Given the description of an element on the screen output the (x, y) to click on. 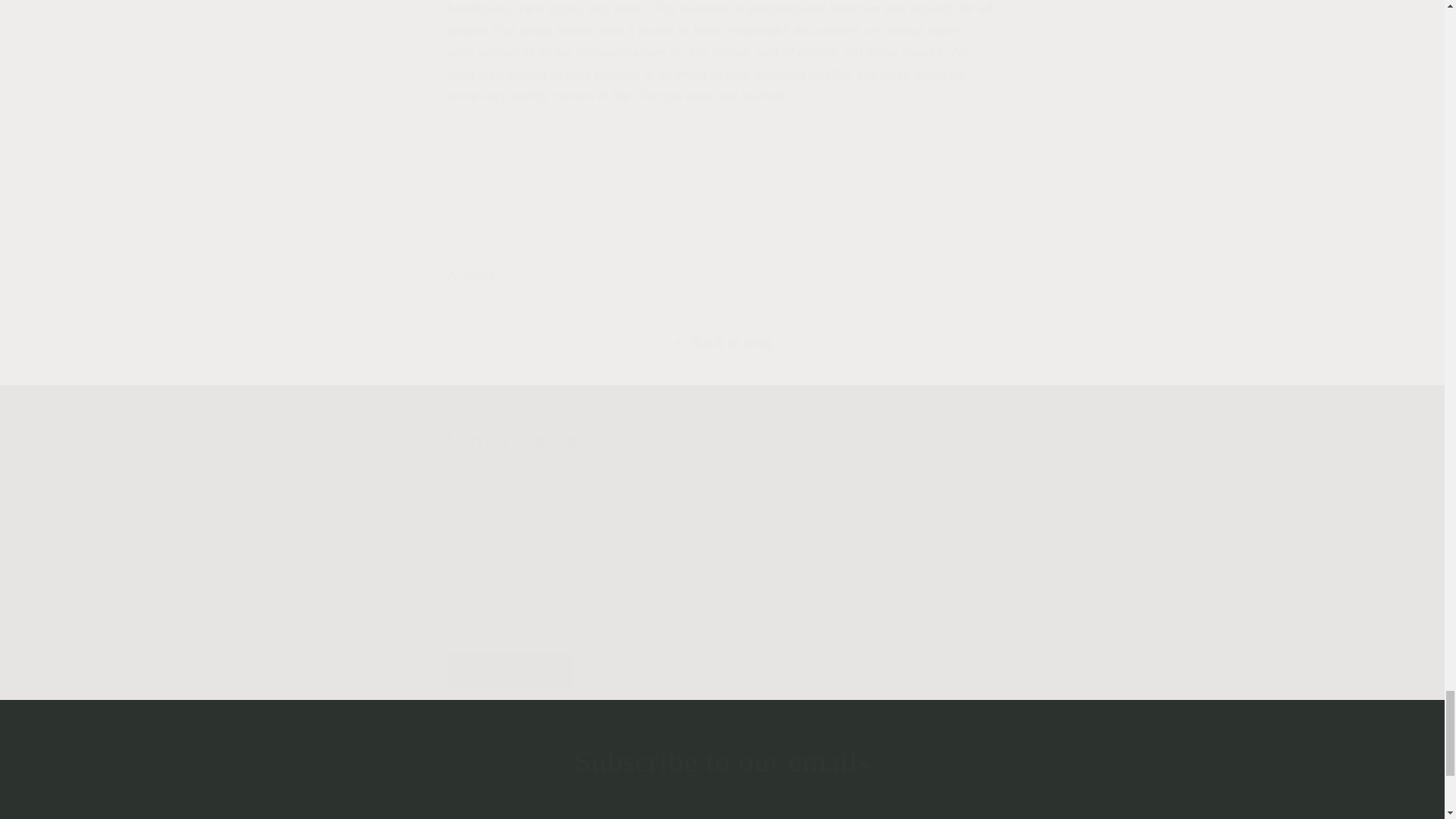
Subscribe to our emails (721, 762)
Post comment (510, 669)
Share (721, 275)
